Given the description of an element on the screen output the (x, y) to click on. 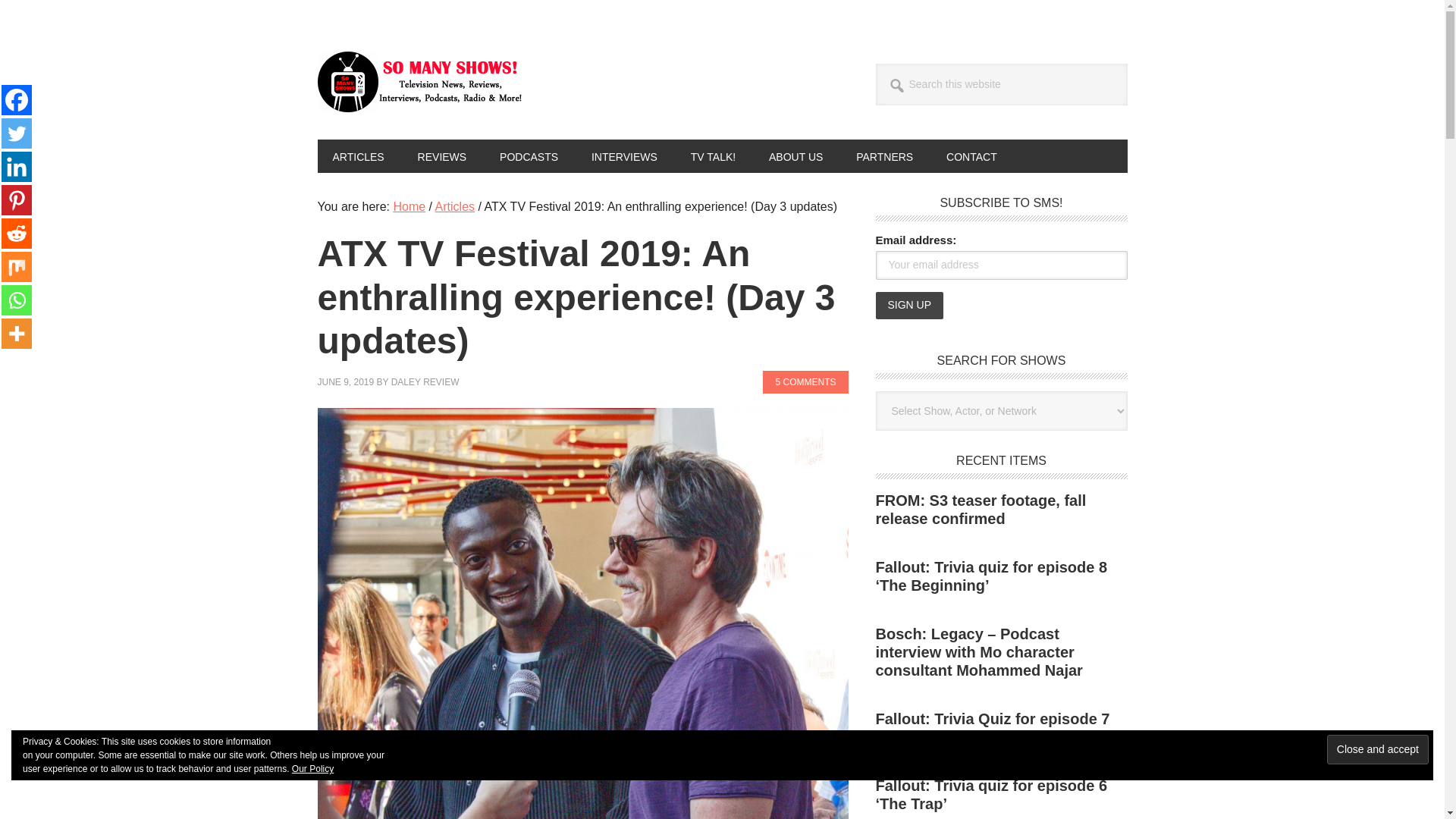
5 COMMENTS (804, 382)
Home (409, 205)
Sign up (909, 305)
Linkedin (16, 166)
INTERVIEWS (624, 155)
DALEY REVIEW (425, 381)
REVIEWS (442, 155)
ABOUT US (796, 155)
Mix (16, 266)
Articles (454, 205)
SO MANY SHOWS! (419, 81)
Reddit (16, 233)
CONTACT (971, 155)
Twitter (16, 132)
